Given the description of an element on the screen output the (x, y) to click on. 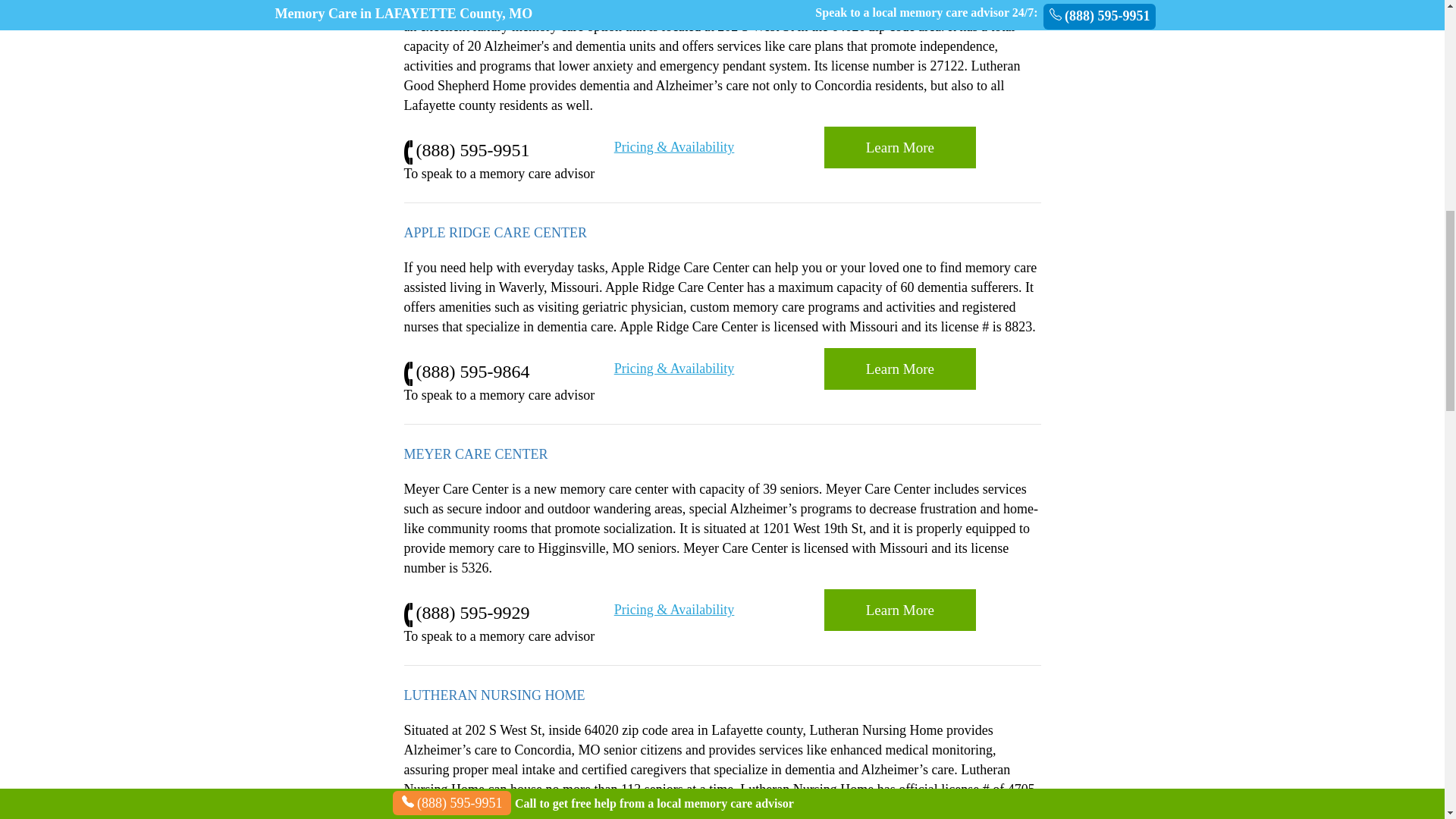
Learn More (899, 814)
Learn More (899, 147)
Learn More (899, 814)
Learn More (899, 368)
Learn More (899, 609)
Learn More (899, 147)
Learn More (899, 368)
Learn More (899, 609)
